Given the description of an element on the screen output the (x, y) to click on. 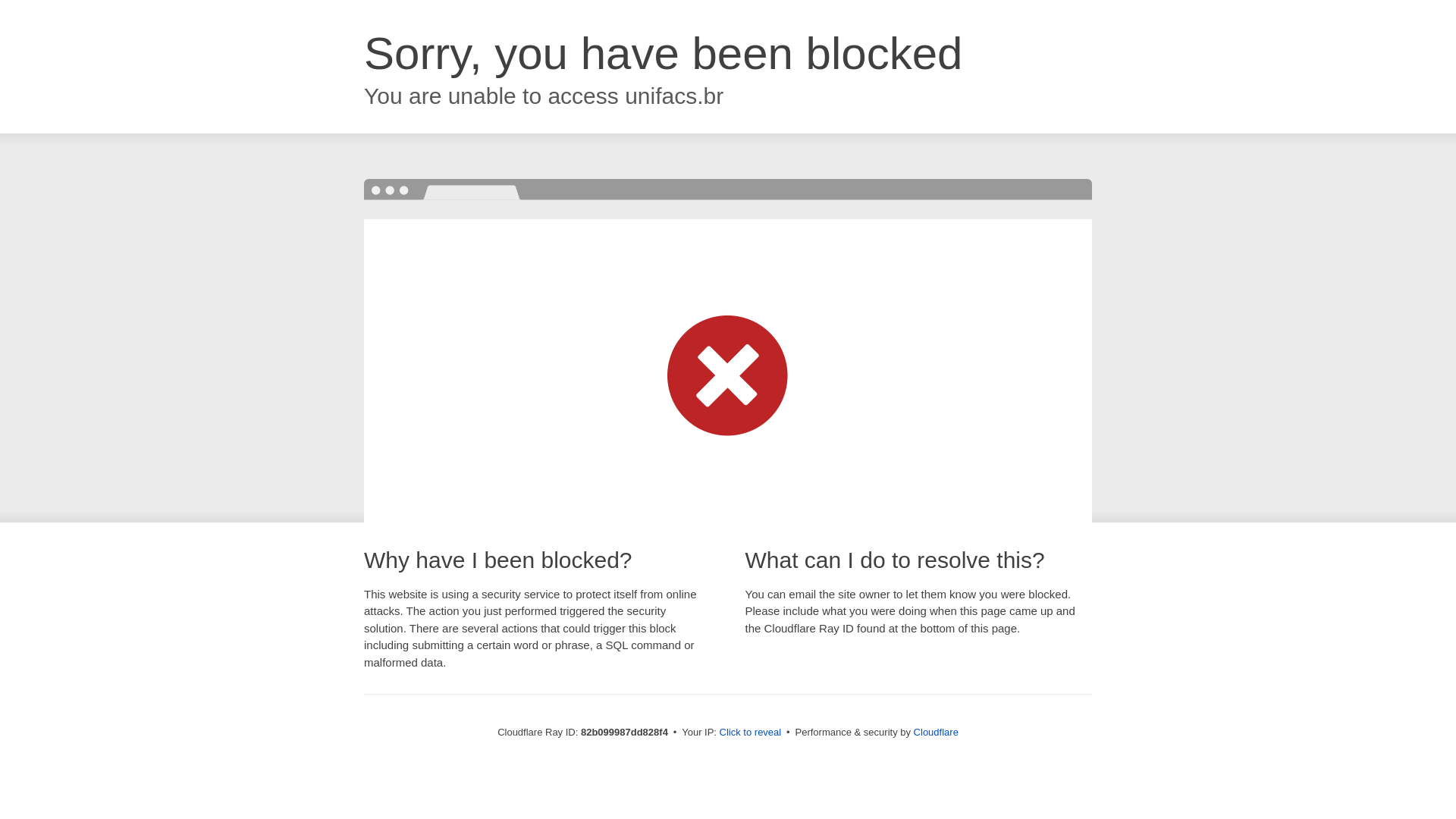
Click to reveal Element type: text (750, 732)
Cloudflare Element type: text (935, 731)
